Given the description of an element on the screen output the (x, y) to click on. 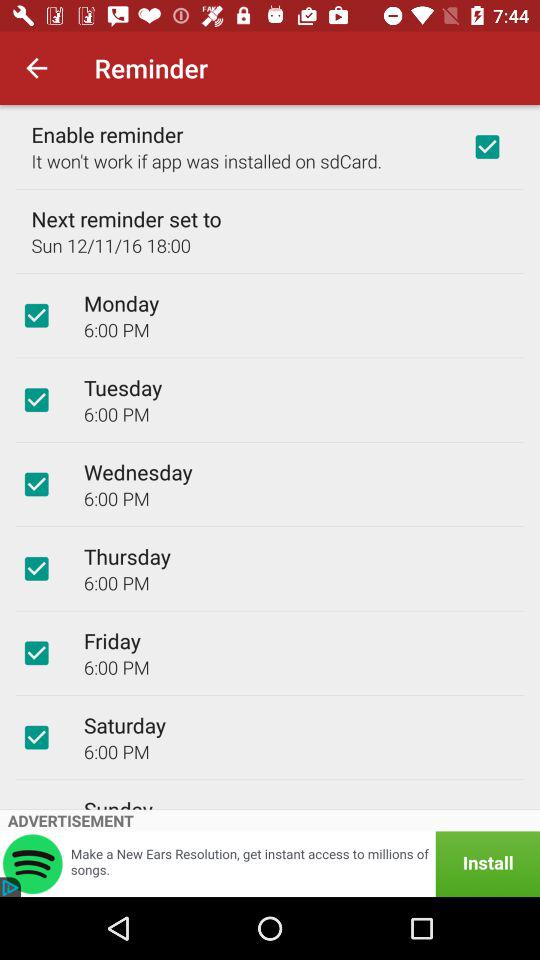
tap the icon to the left of the reminder (36, 68)
